Given the description of an element on the screen output the (x, y) to click on. 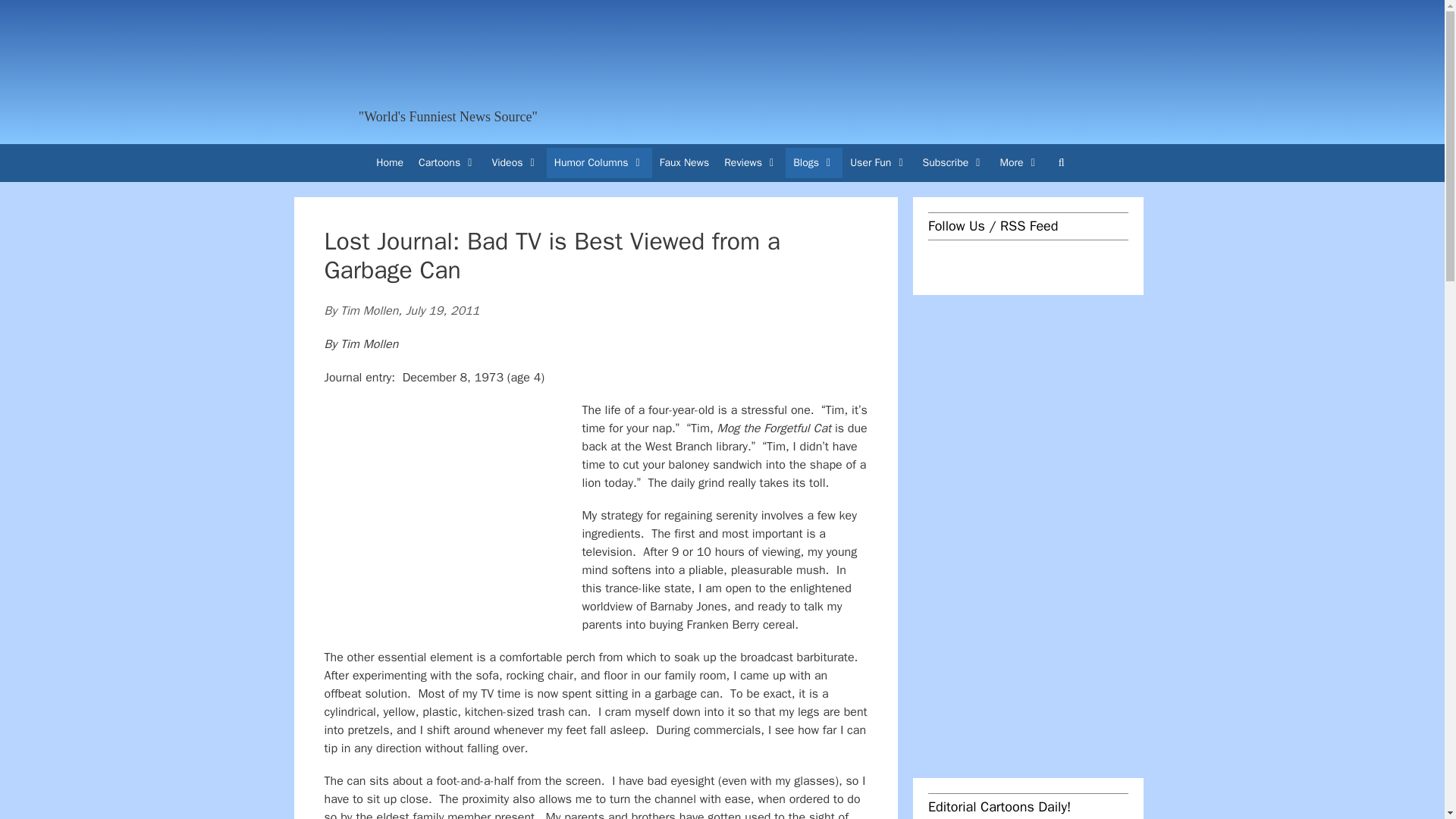
View all posts by Tim Mollen (368, 310)
Instagram (997, 262)
HT Facebook page (940, 262)
HT Twitter (968, 262)
HT Pinterest page (1054, 262)
HT YouTube page (1026, 262)
Cartoons (446, 163)
Home (389, 163)
Humor Times Free Trial (944, 67)
3:20 PM (443, 310)
